Given the description of an element on the screen output the (x, y) to click on. 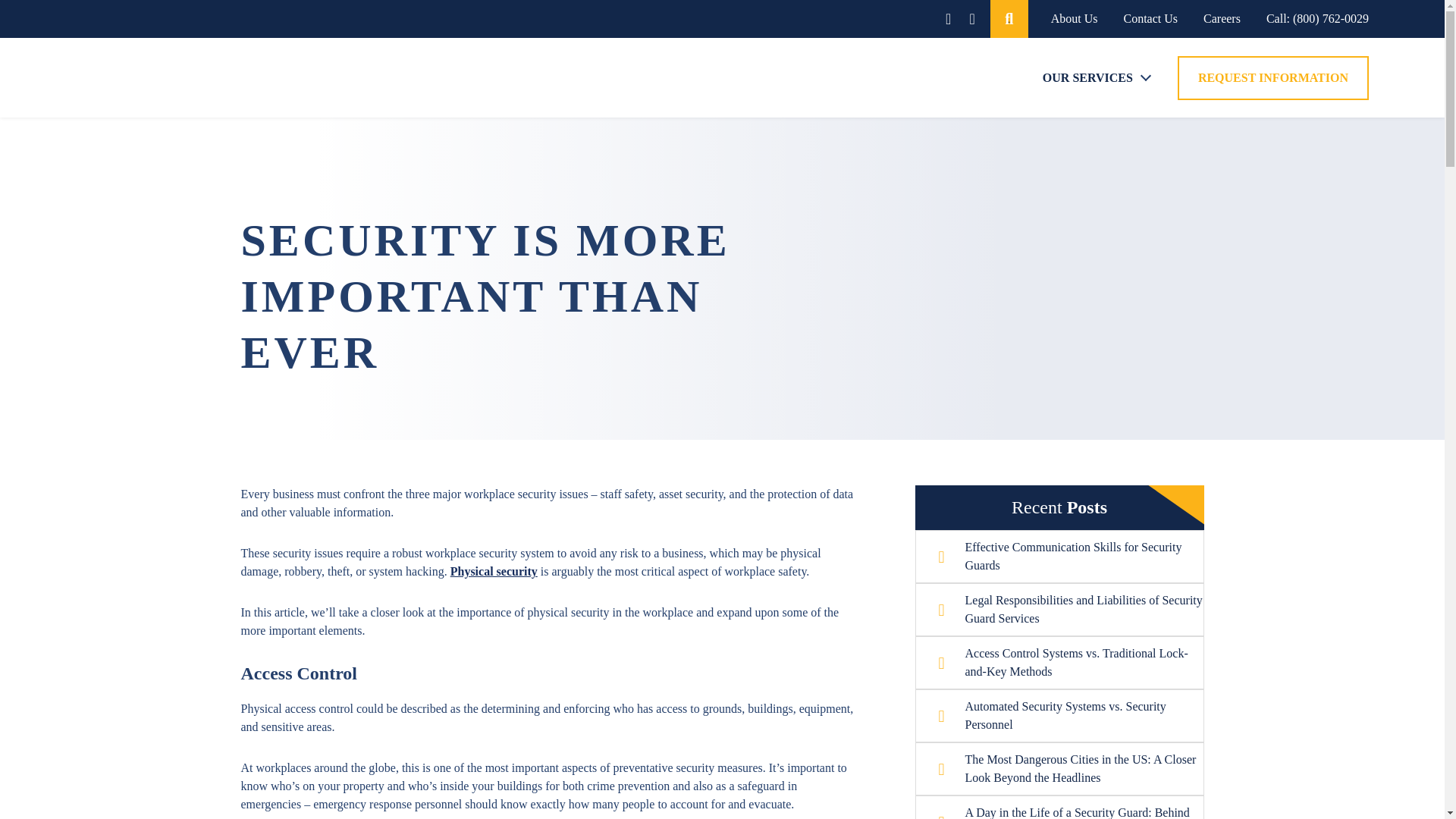
Access Control Systems vs. Traditional Lock-and-Key Methods (1071, 662)
REQUEST INFORMATION (1272, 77)
Effective Communication Skills for Security Guards (1071, 556)
. (1008, 18)
About Us (1074, 18)
Automated Security Systems vs. Security Personnel (1071, 715)
. (1008, 18)
Careers (1222, 18)
OUR SERVICES (1087, 77)
A Day in the Life of a Security Guard: Behind the Scenes (1071, 811)
Contact Us (1150, 18)
Physical security (493, 571)
